Given the description of an element on the screen output the (x, y) to click on. 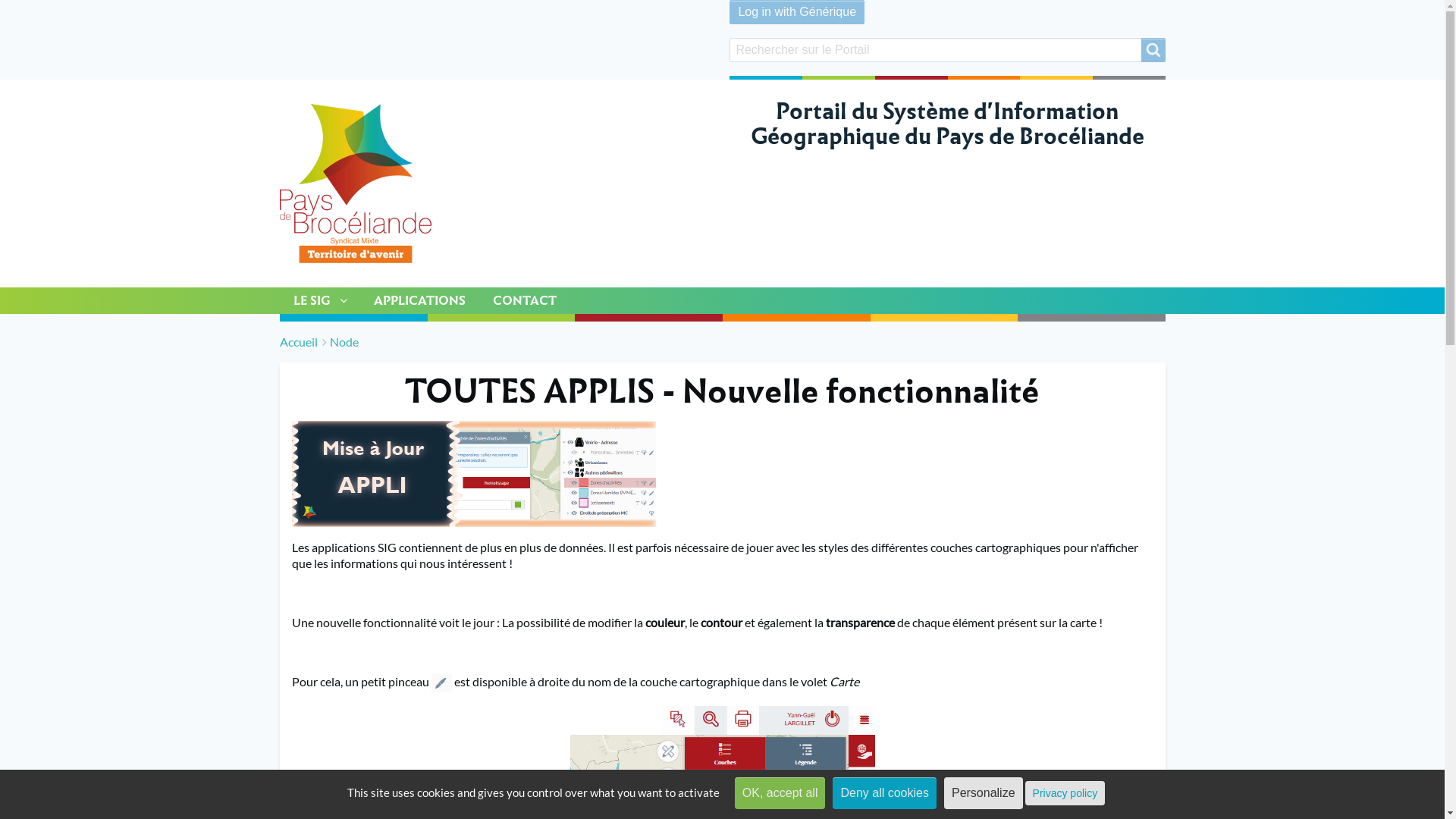
OK, accept all Element type: text (779, 793)
Personalize Element type: text (983, 793)
CONTACT Element type: text (524, 300)
APPLICATIONS Element type: text (418, 300)
LE SIG Element type: text (319, 300)
Accueil Element type: text (297, 341)
Node Element type: text (343, 341)
Deny all cookies Element type: text (884, 793)
Accueil Element type: hover (354, 183)
Search Element type: text (1152, 49)
Privacy policy Element type: text (1065, 793)
